Given the description of an element on the screen output the (x, y) to click on. 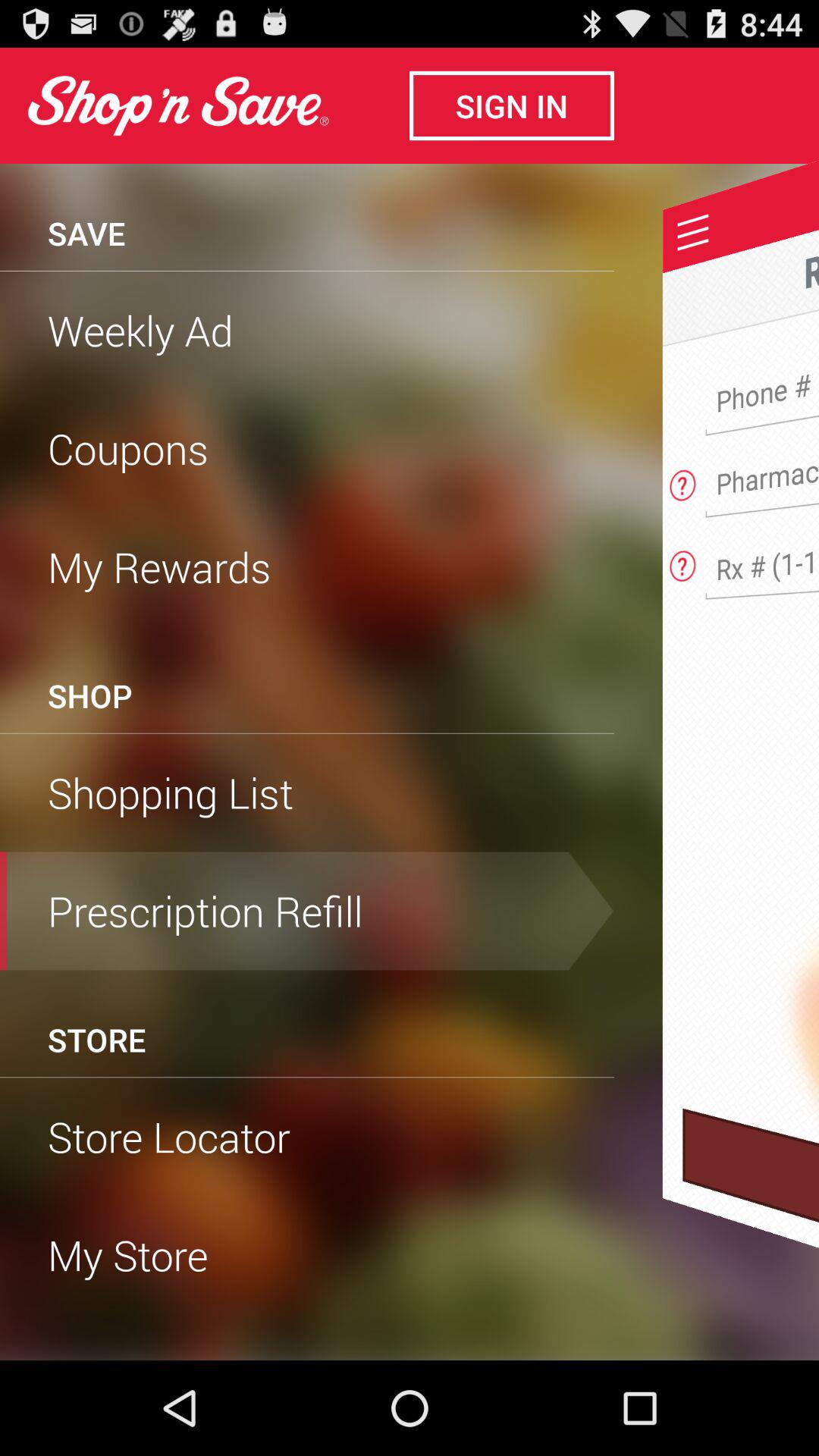
info about prescription (682, 561)
